Given the description of an element on the screen output the (x, y) to click on. 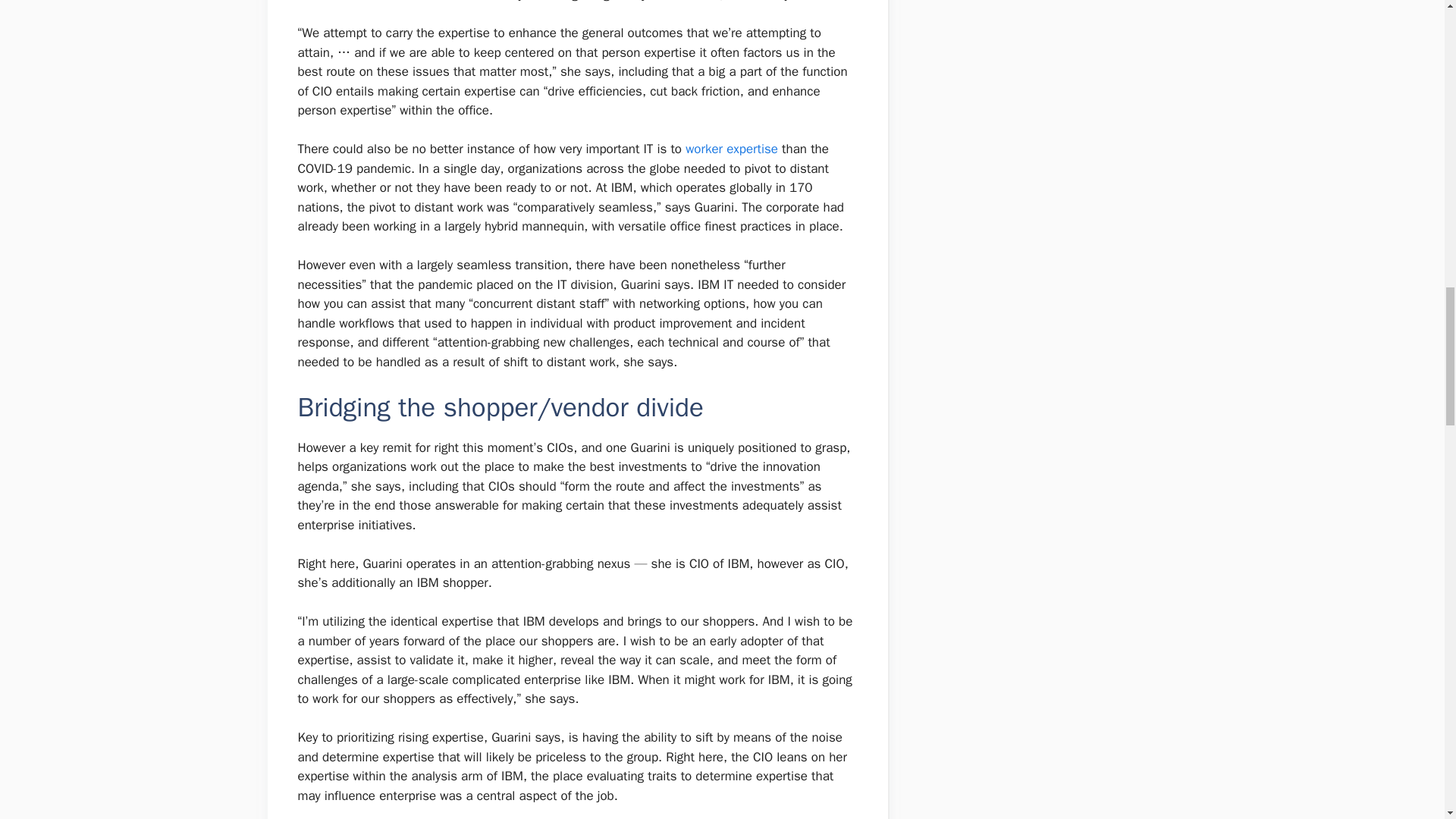
worker expertise (731, 148)
